Given the description of an element on the screen output the (x, y) to click on. 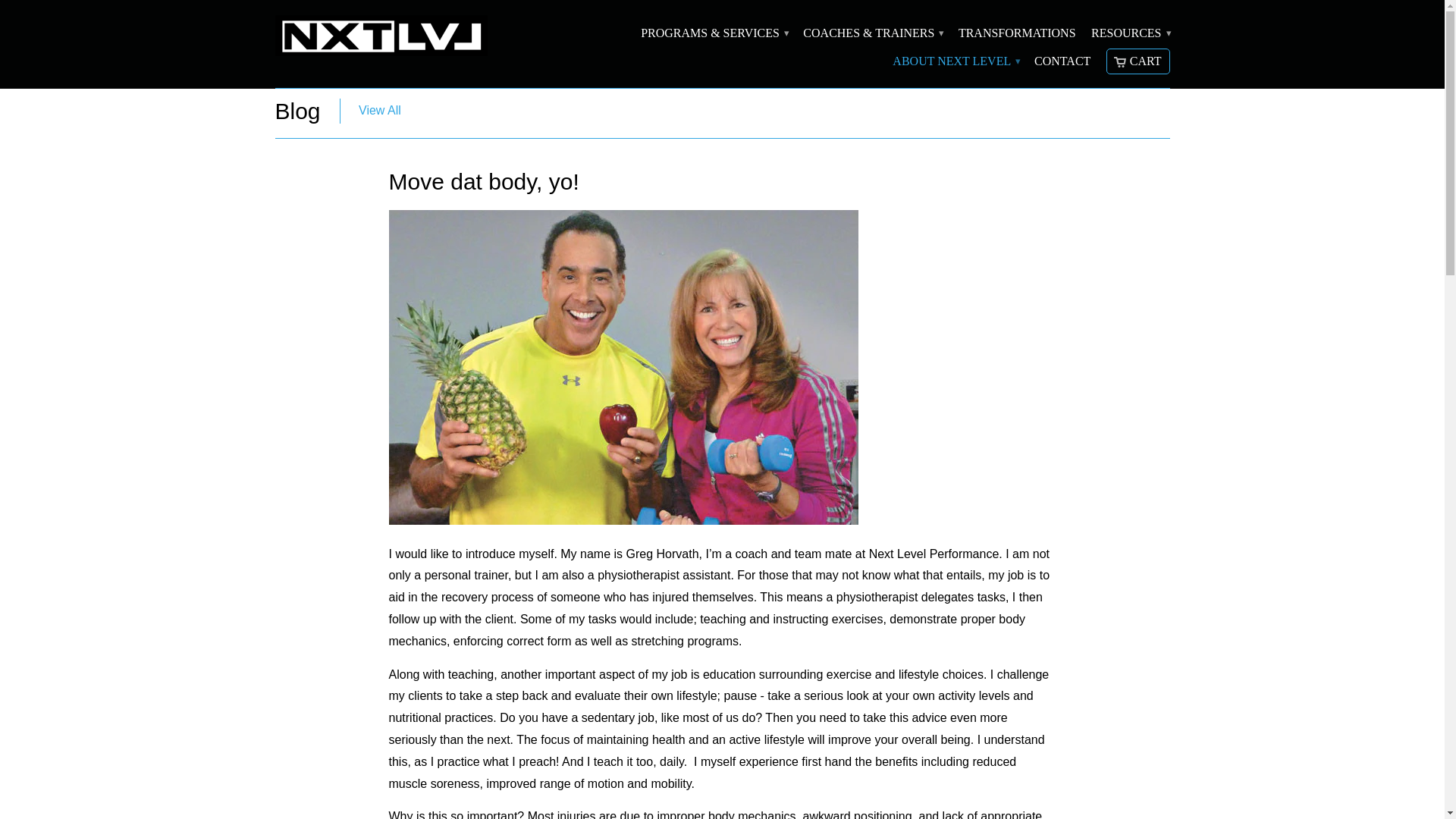
Next Level Performance Fitness (380, 38)
Cart (1138, 61)
TRANSFORMATIONS (1016, 36)
CART (1138, 61)
CONTACT (1061, 65)
